Given the description of an element on the screen output the (x, y) to click on. 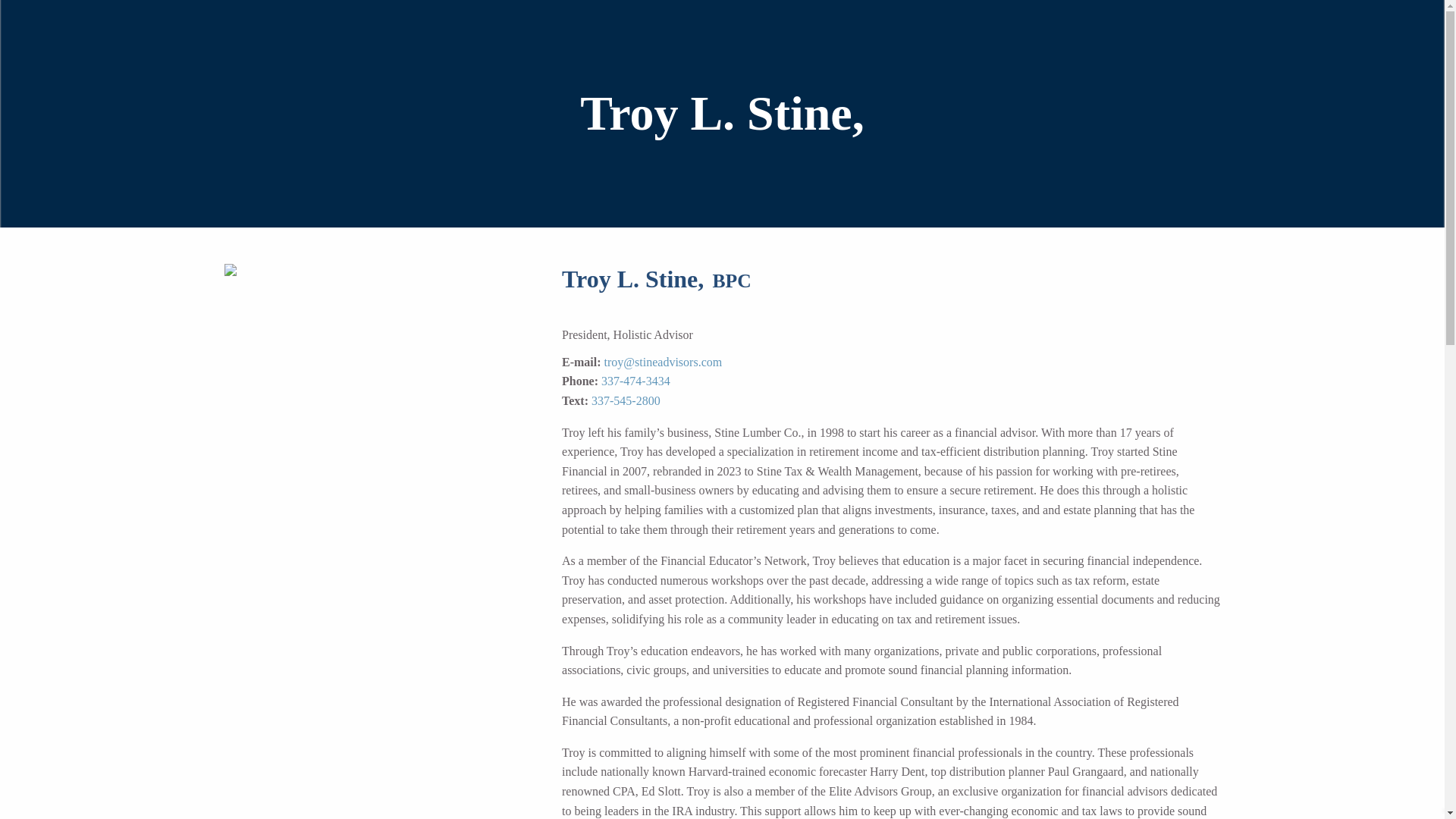
WHO WE ARE (1191, 193)
Protection Planning (1328, 52)
ASSET MANAGEMENT (1168, 87)
Legacy Planning (1348, 122)
Our Expertise: Specialized Insight (1191, 193)
337-545-2800 (626, 400)
Financial Planning (1170, 52)
337-474-3434 (635, 380)
Text Troy (626, 400)
TAX MANAGEMENT (1310, 87)
Tax Management (1310, 87)
Call Troy (635, 380)
Client Resources (1288, 193)
Asset Management (1168, 87)
OUR HOLISTIC APPROACH (1263, 17)
